Given the description of an element on the screen output the (x, y) to click on. 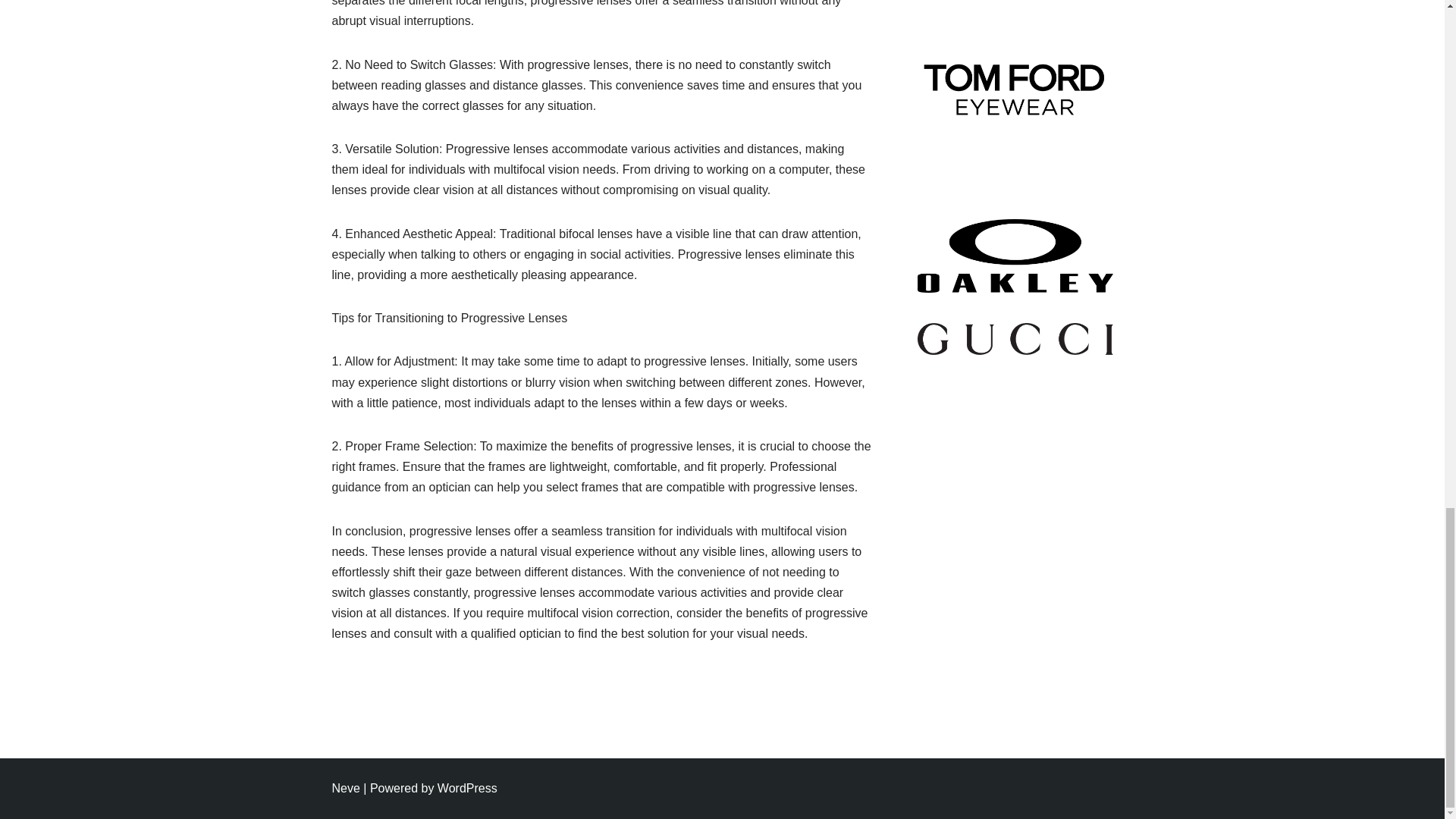
WordPress (467, 788)
Neve (345, 788)
